Given the description of an element on the screen output the (x, y) to click on. 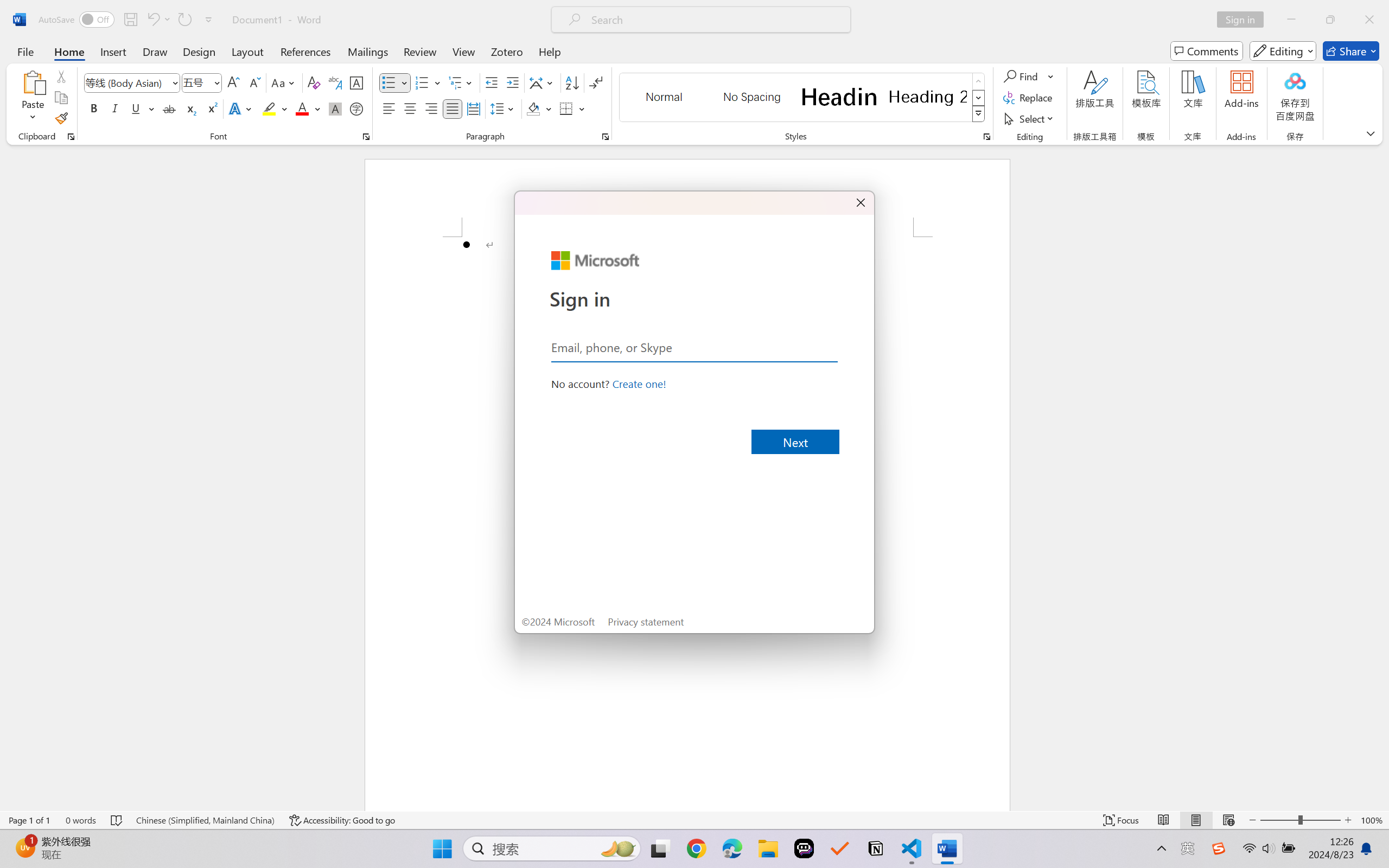
Microsoft Edge (731, 848)
